Given the description of an element on the screen output the (x, y) to click on. 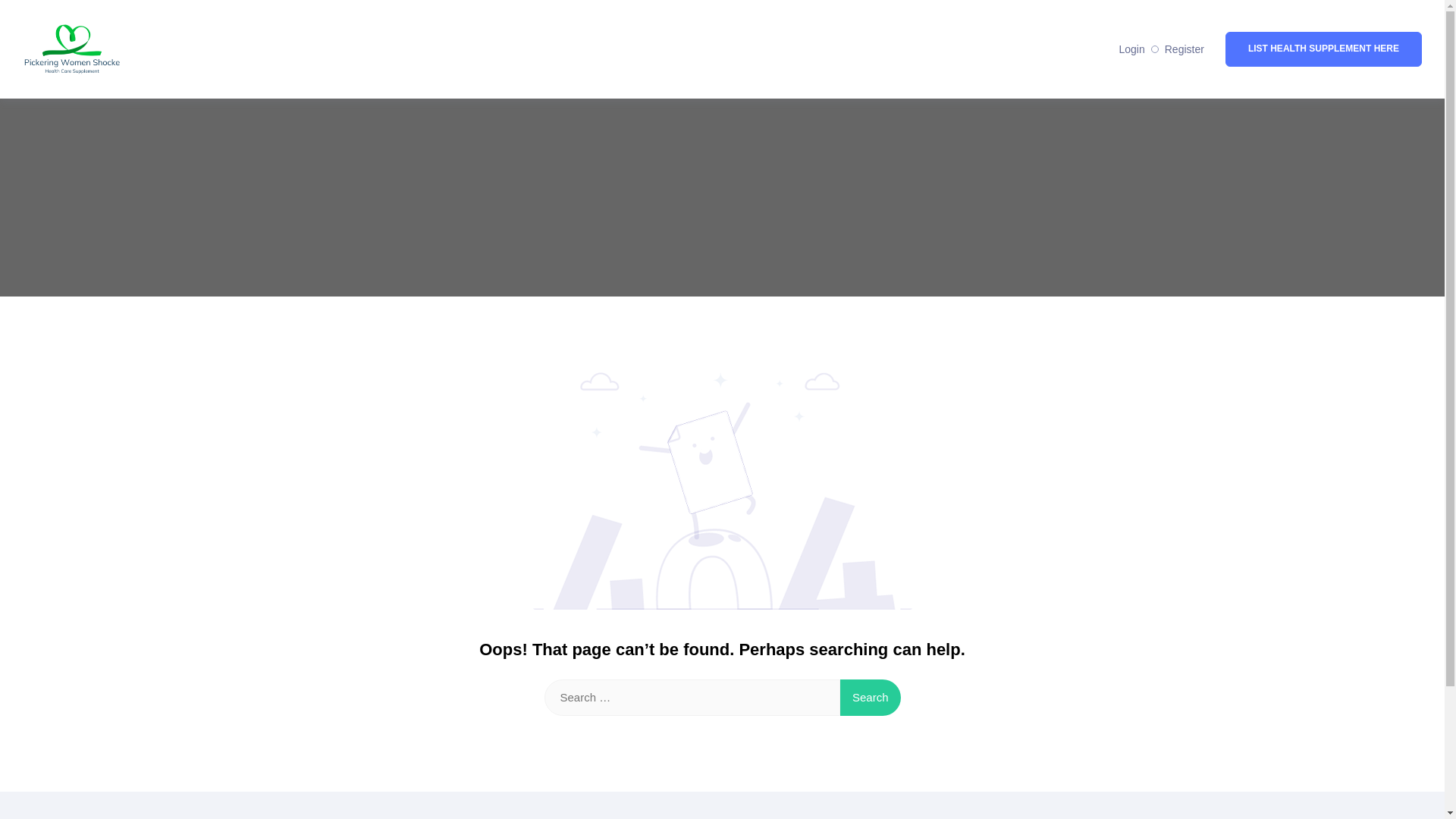
Search (870, 697)
Search (870, 697)
Login (1131, 49)
LIST HEALTH SUPPLEMENT HERE (1323, 48)
Search (870, 697)
Register (1184, 49)
